Given the description of an element on the screen output the (x, y) to click on. 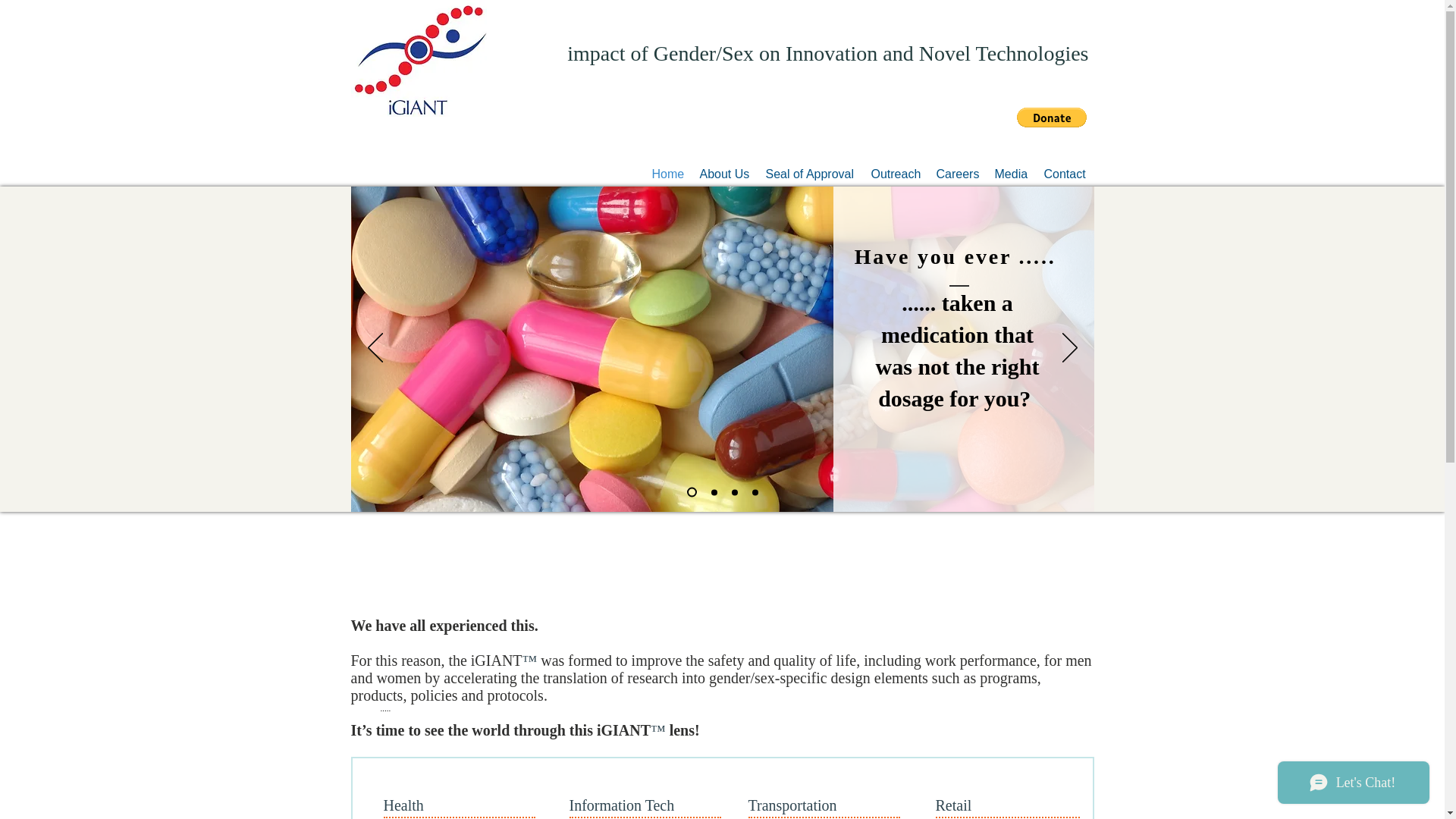
About Us (724, 173)
Media (1011, 173)
Contact (1064, 173)
Seal of Approval (810, 173)
Home (669, 173)
Careers (957, 173)
Outreach (895, 173)
logo.jpg (418, 58)
